Given the description of an element on the screen output the (x, y) to click on. 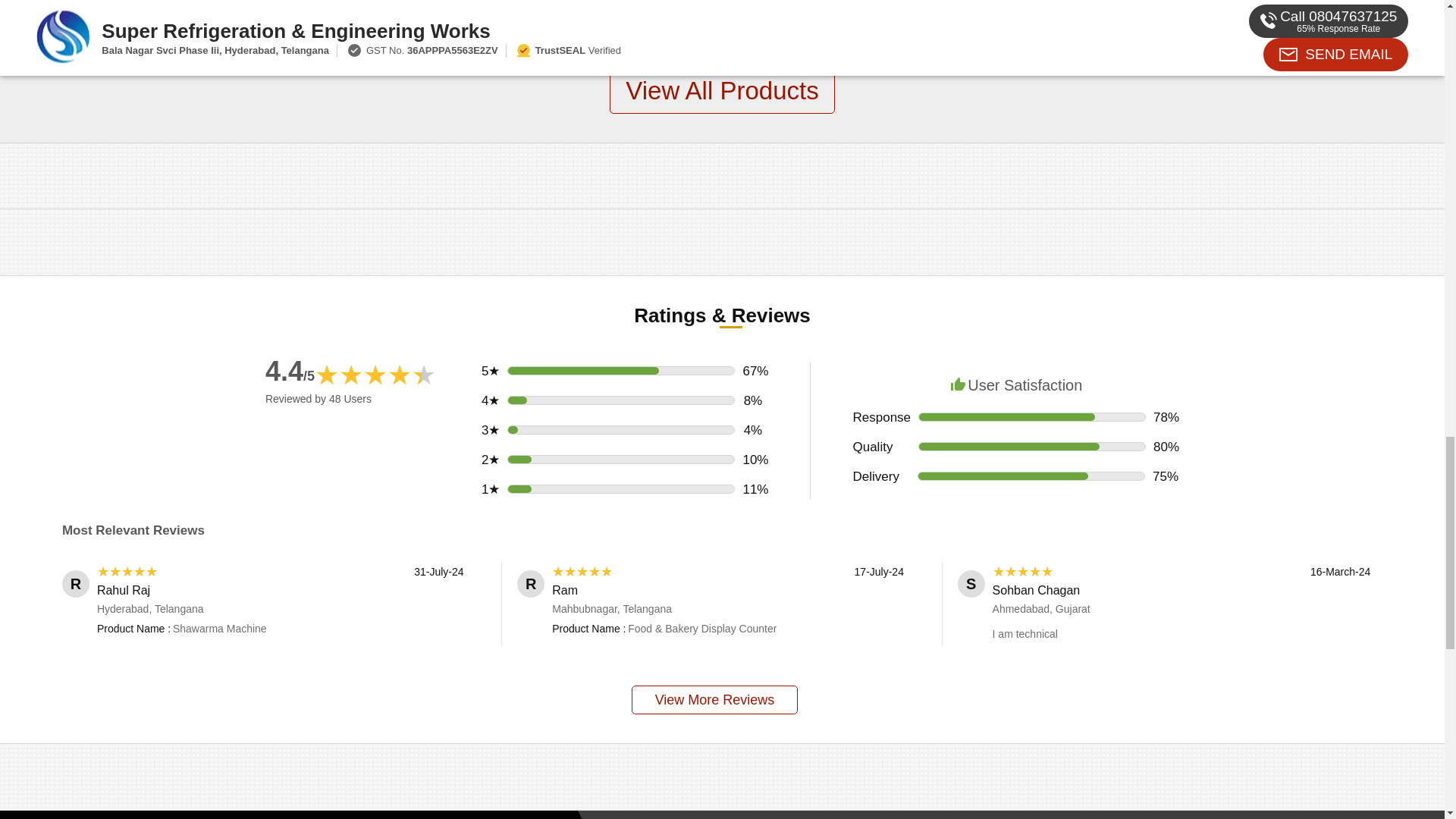
4.4 out of 5 Votes (289, 370)
